Given the description of an element on the screen output the (x, y) to click on. 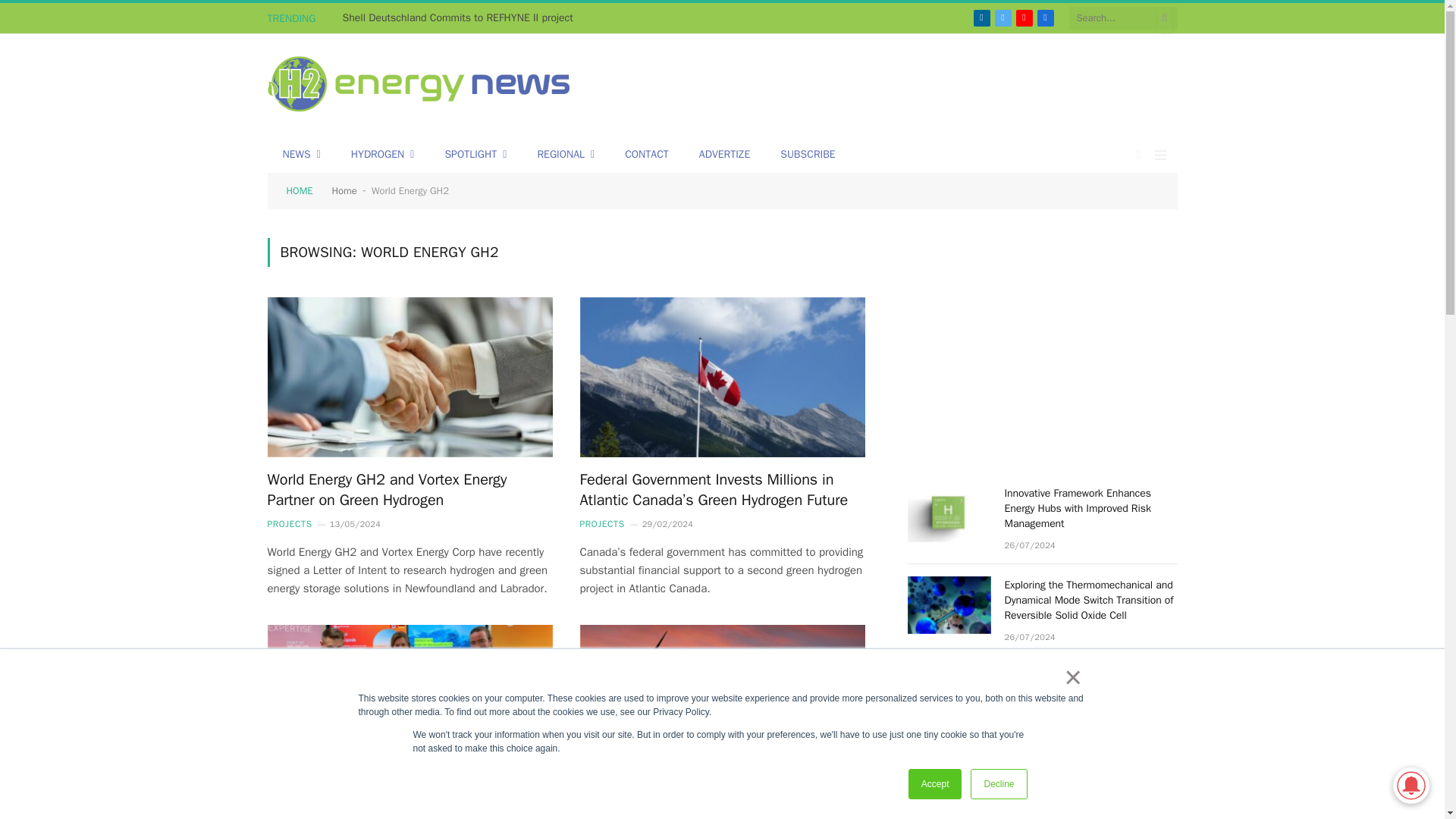
LinkedIn (982, 17)
HYDROGEN (382, 154)
Decline (998, 784)
Switch to Dark Design - easier on eyes. (1138, 154)
Green Hydrogen News (418, 85)
World Energy GH2 and Vortex Energy Partner on Green Hydrogen (408, 377)
Shell Deutschland Commits to REFHYNE II project (461, 18)
NEWS (300, 154)
Accept (935, 784)
YouTube (1024, 17)
Facebook (1045, 17)
